Given the description of an element on the screen output the (x, y) to click on. 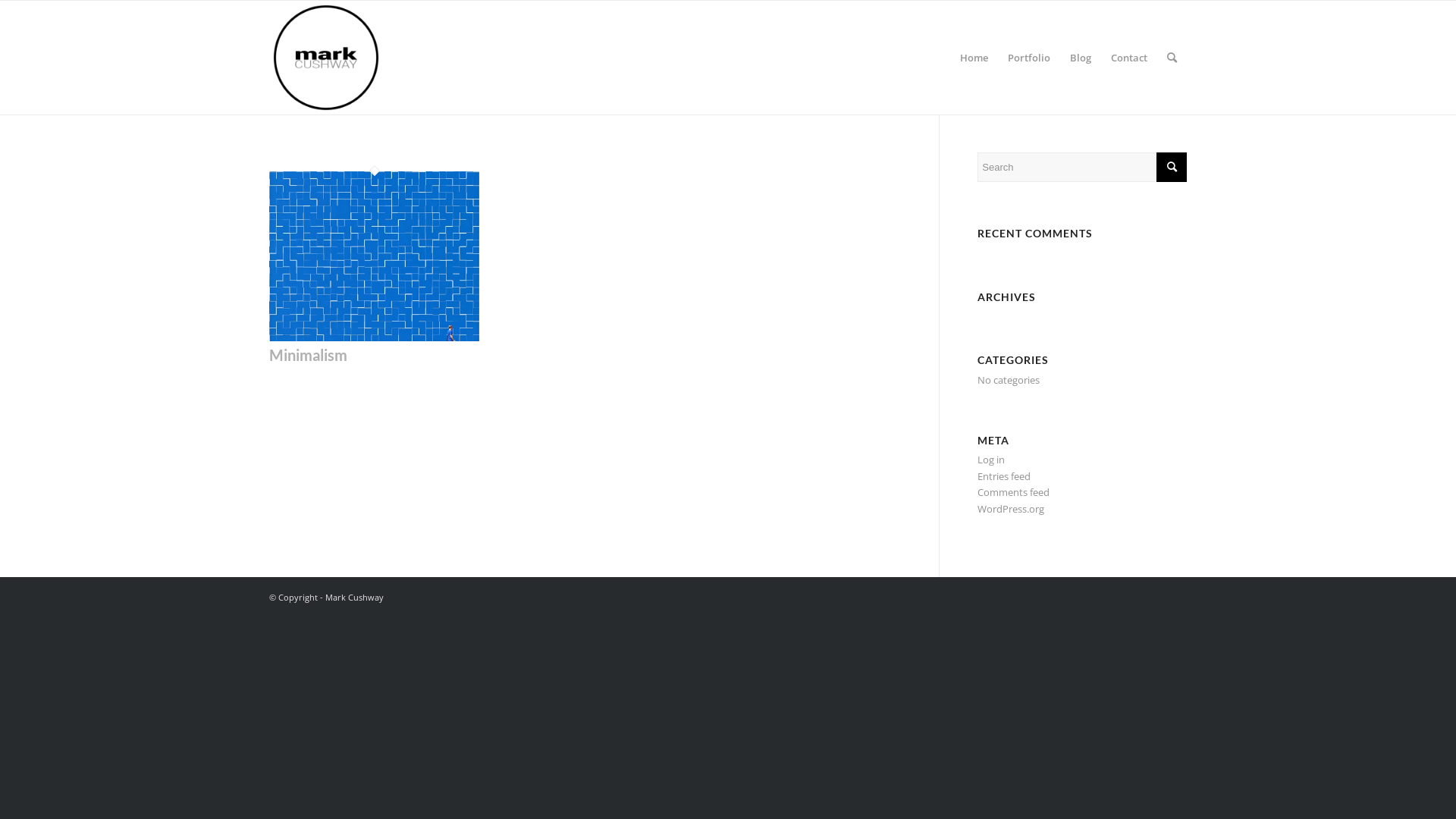
Comments feed Element type: text (1013, 491)
Contact Element type: text (1129, 57)
Portfolio Element type: text (1028, 57)
Minimalism Element type: text (308, 354)
Log in Element type: text (990, 459)
WordPress.org Element type: text (1010, 508)
Blog Element type: text (1080, 57)
Home Element type: text (973, 57)
Entries feed Element type: text (1003, 476)
Minimalism Element type: hover (374, 337)
